Given the description of an element on the screen output the (x, y) to click on. 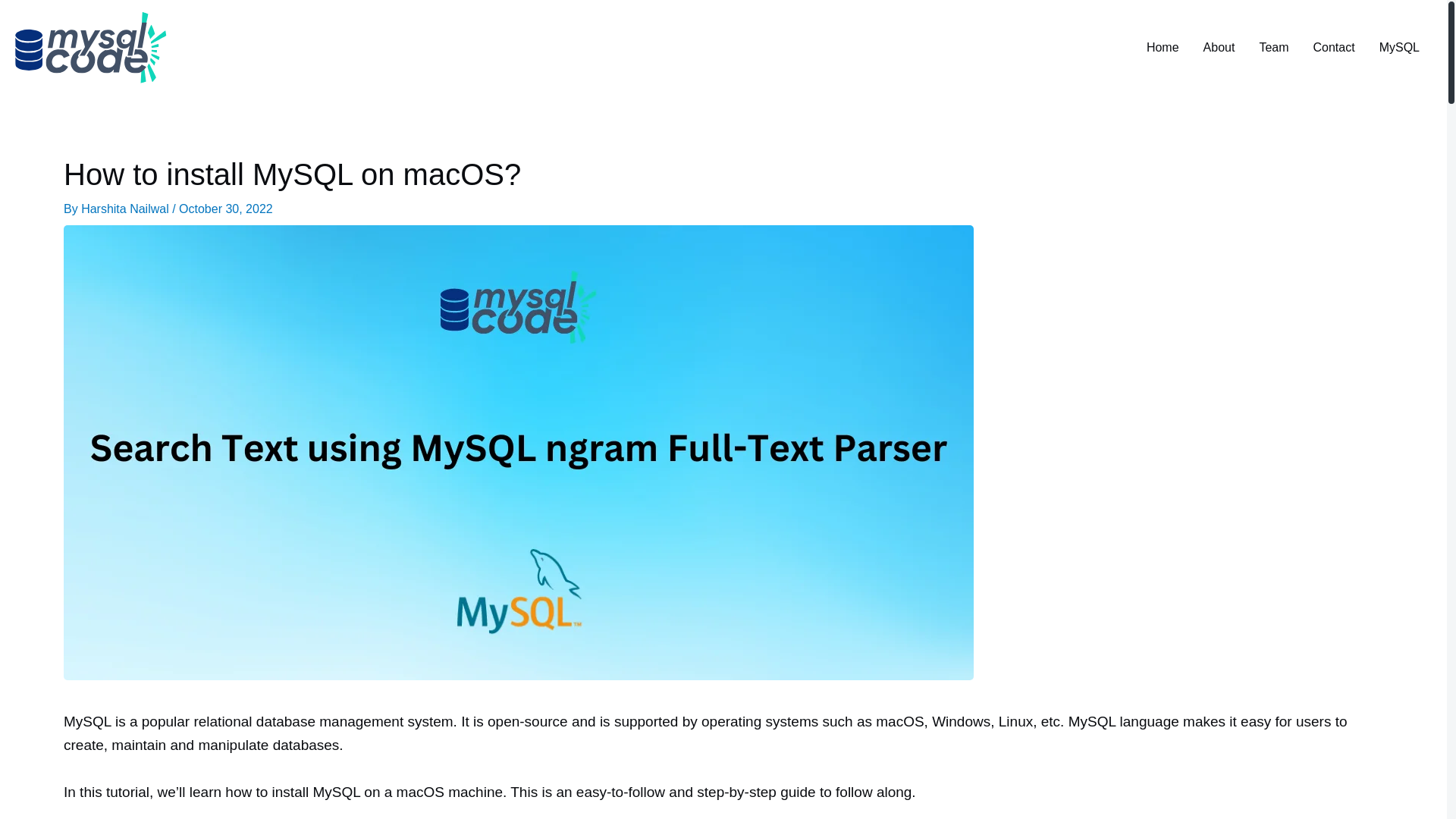
MySQL (1399, 47)
Home (1162, 47)
View all posts by Harshita Nailwal (126, 208)
Team (1273, 47)
About (1219, 47)
Harshita Nailwal (126, 208)
Contact (1334, 47)
